Given the description of an element on the screen output the (x, y) to click on. 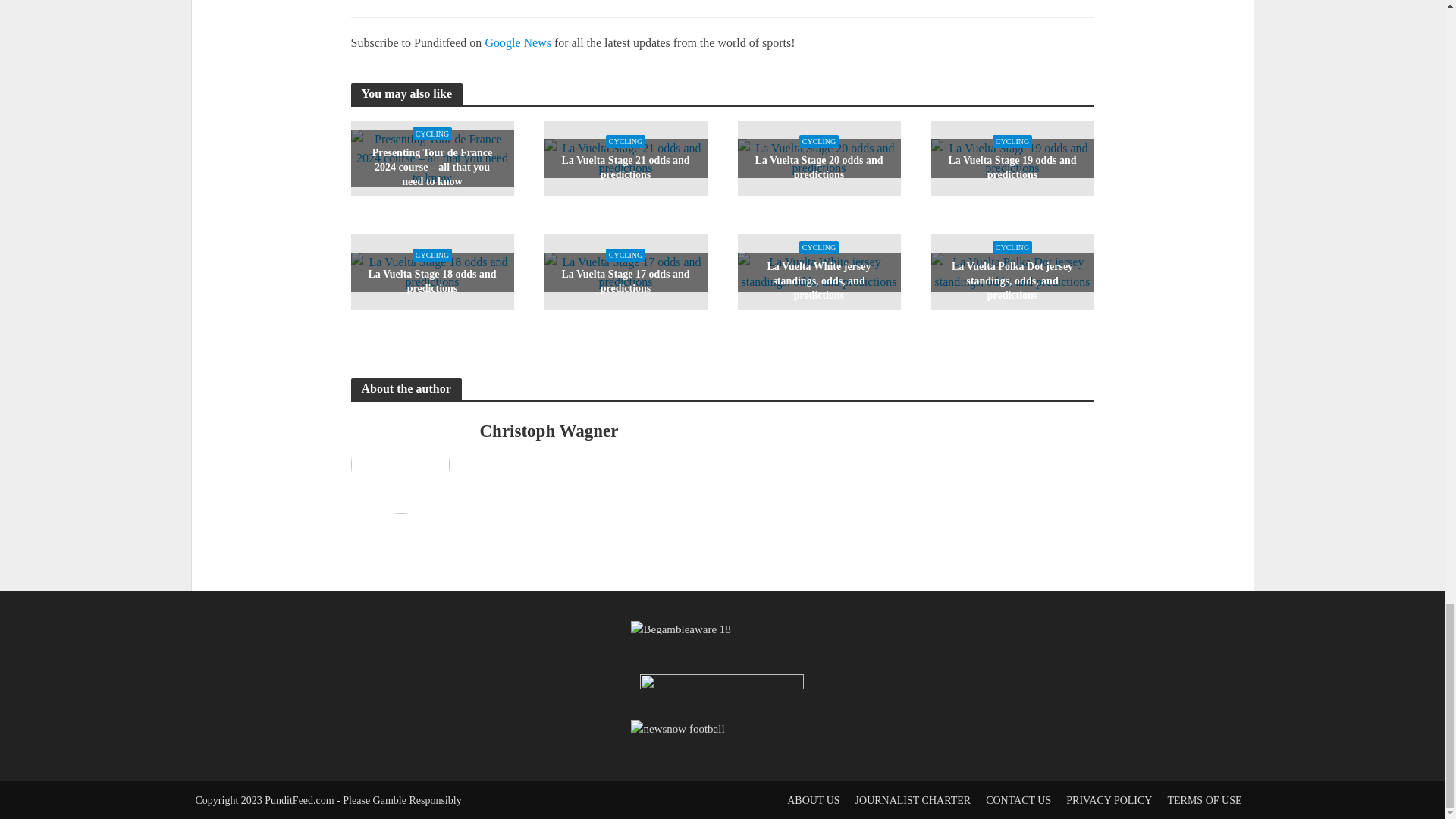
La Vuelta Stage 21 odds and predictions 4 (625, 157)
La Vuelta Stage 20 odds and predictions 5 (817, 157)
La Vuelta Stage 18 odds and predictions 7 (431, 271)
La Vuelta Stage 17 odds and predictions 8 (625, 271)
La Vuelta Stage 19 odds and predictions 6 (1012, 157)
La Vuelta Stage 21 odds and predictions (625, 156)
La Vuelta Polka Dot jersey standings, odds, and predictions (1012, 270)
La Vuelta White jersey standings, odds, and predictions 9 (817, 271)
La Vuelta White jersey standings, odds, and predictions (817, 270)
La Vuelta Stage 19 odds and predictions (1012, 156)
La Vuelta Stage 18 odds and predictions (431, 270)
La Vuelta Stage 20 odds and predictions (817, 156)
La Vuelta Stage 17 odds and predictions (625, 270)
